Given the description of an element on the screen output the (x, y) to click on. 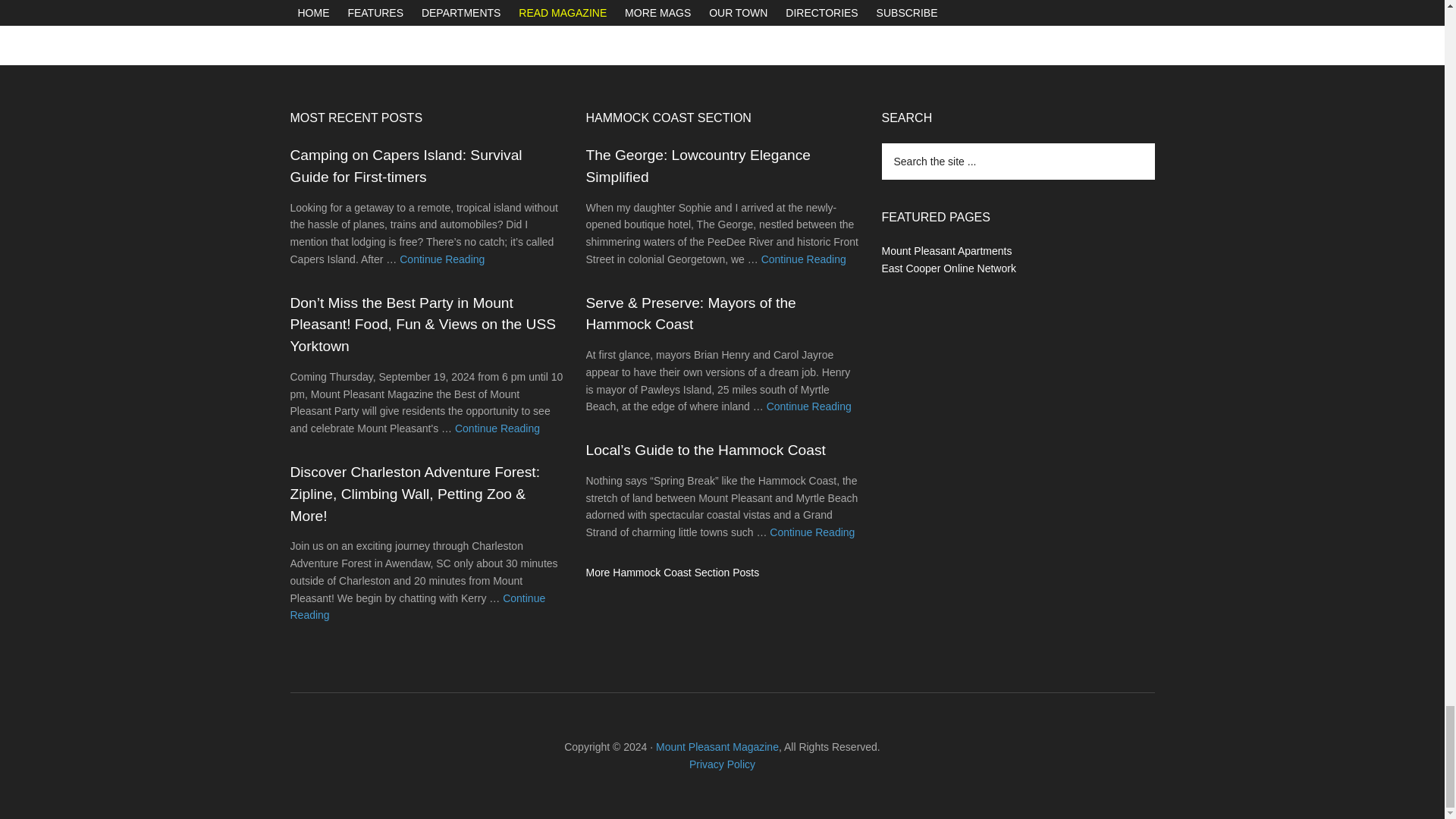
Hammock Coast (671, 572)
